Given the description of an element on the screen output the (x, y) to click on. 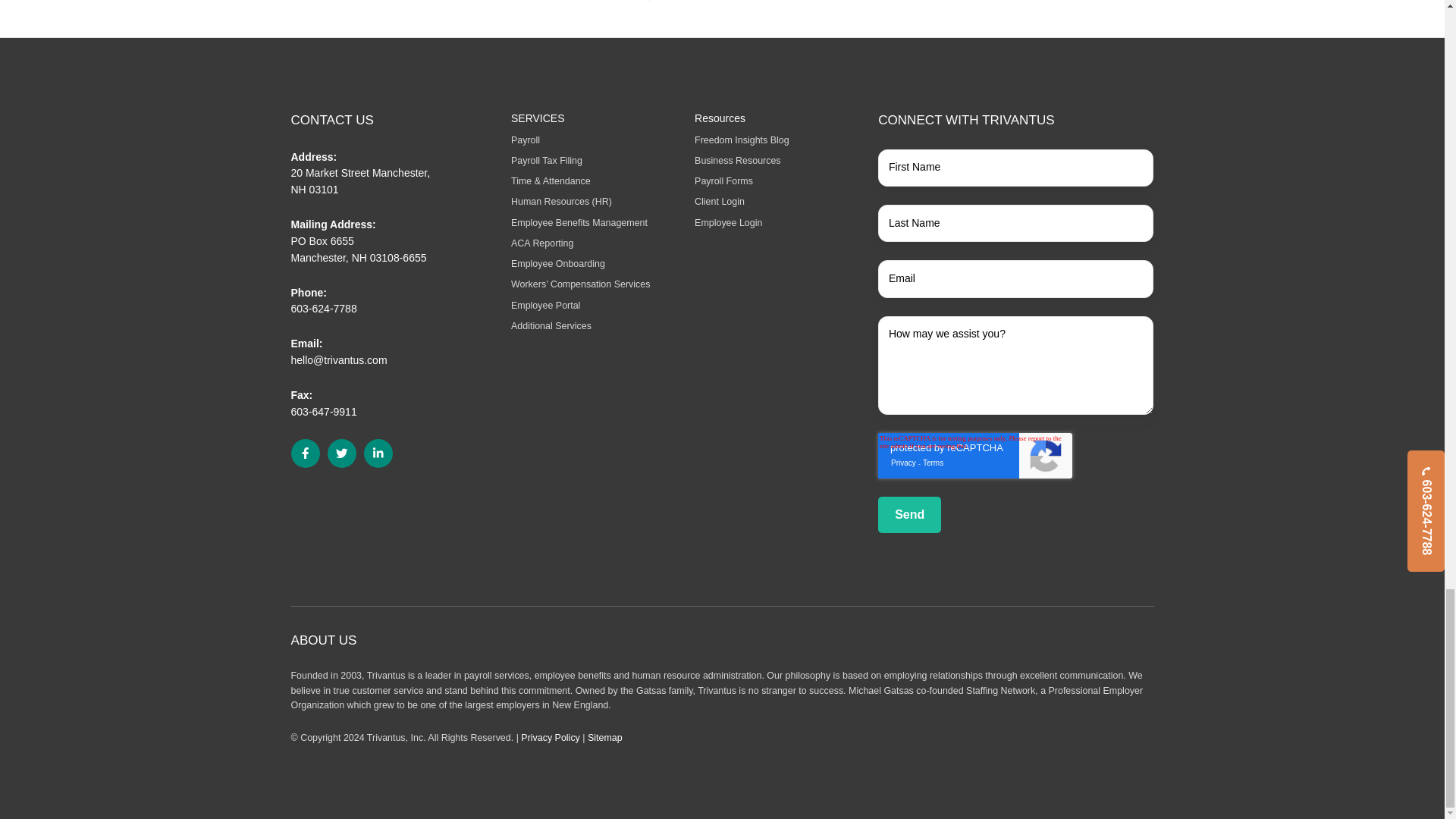
Send (908, 514)
reCAPTCHA (974, 455)
Sitemap (605, 737)
Privacy Policy (550, 737)
